Given the description of an element on the screen output the (x, y) to click on. 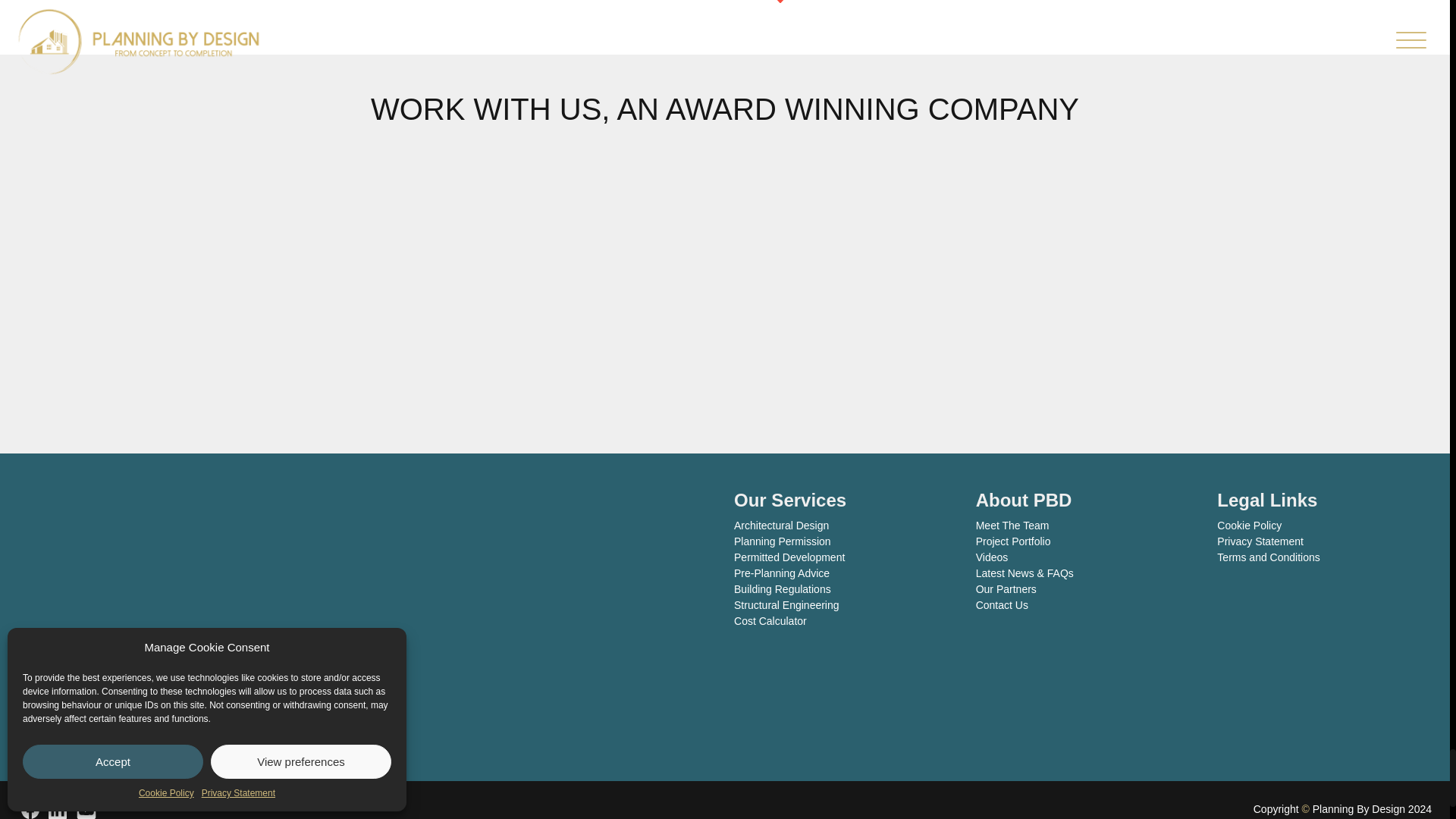
YouTube (86, 809)
Facebook (30, 809)
LinkedIn (57, 809)
